Given the description of an element on the screen output the (x, y) to click on. 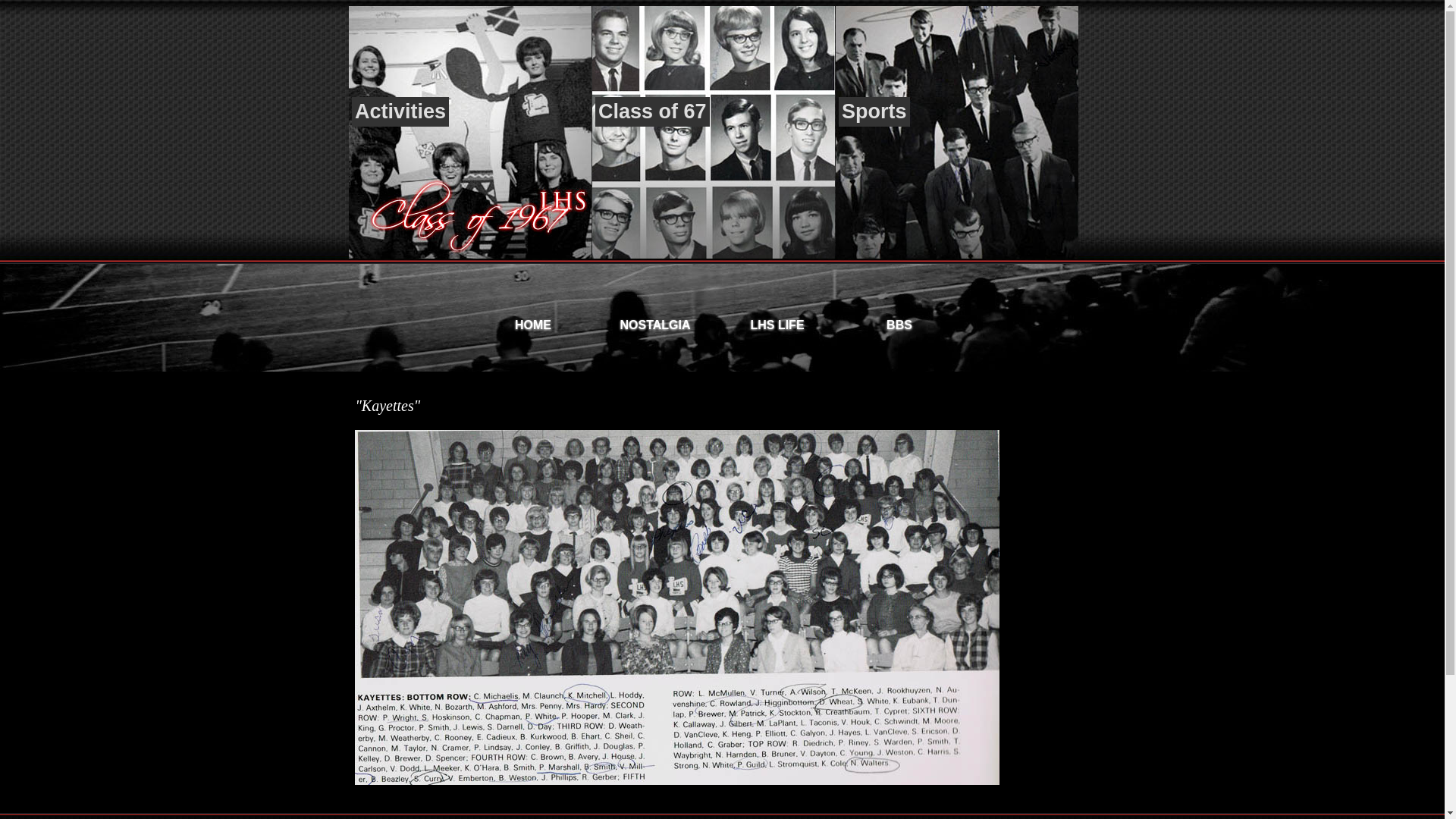
HOME Element type: text (532, 319)
BBS Element type: text (899, 319)
LHS LIFE Element type: text (776, 319)
NOSTALGIA Element type: text (655, 319)
